Given the description of an element on the screen output the (x, y) to click on. 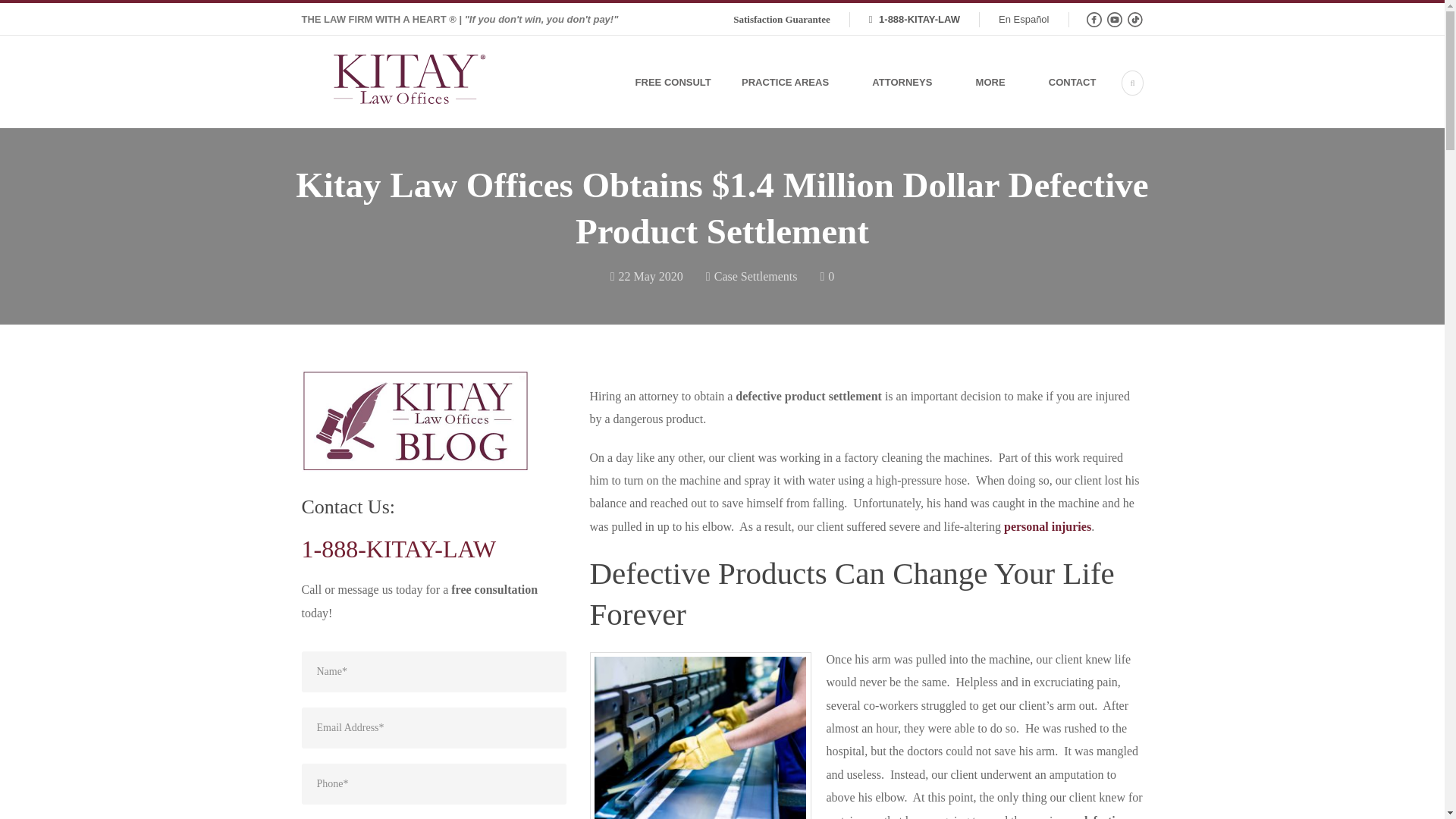
Law Firm in Pennsylvania (408, 82)
1-888-KITAY-LAW (914, 19)
Satisfaction Guarantee (781, 19)
